Given the description of an element on the screen output the (x, y) to click on. 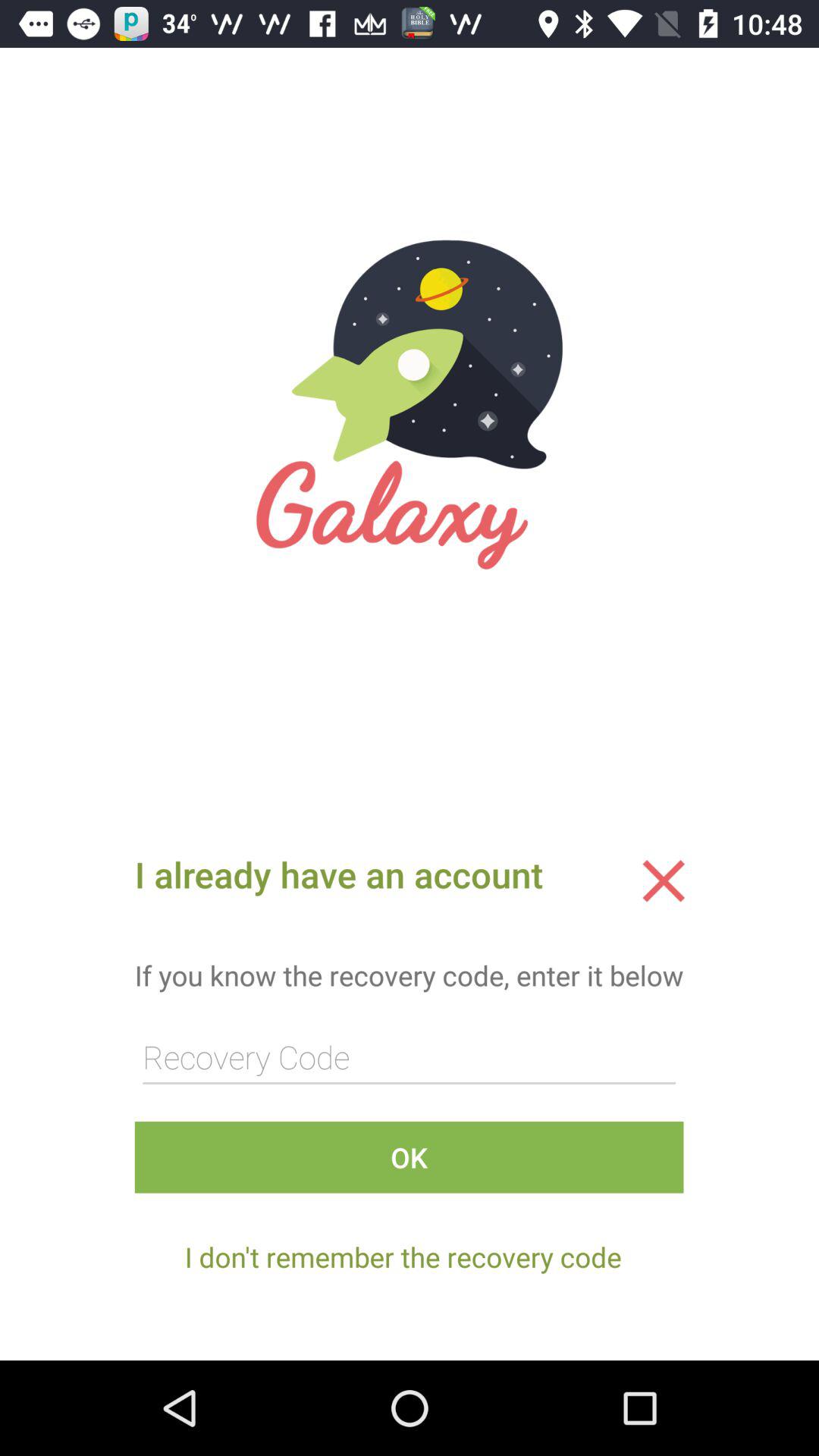
launch i don t (402, 1256)
